Given the description of an element on the screen output the (x, y) to click on. 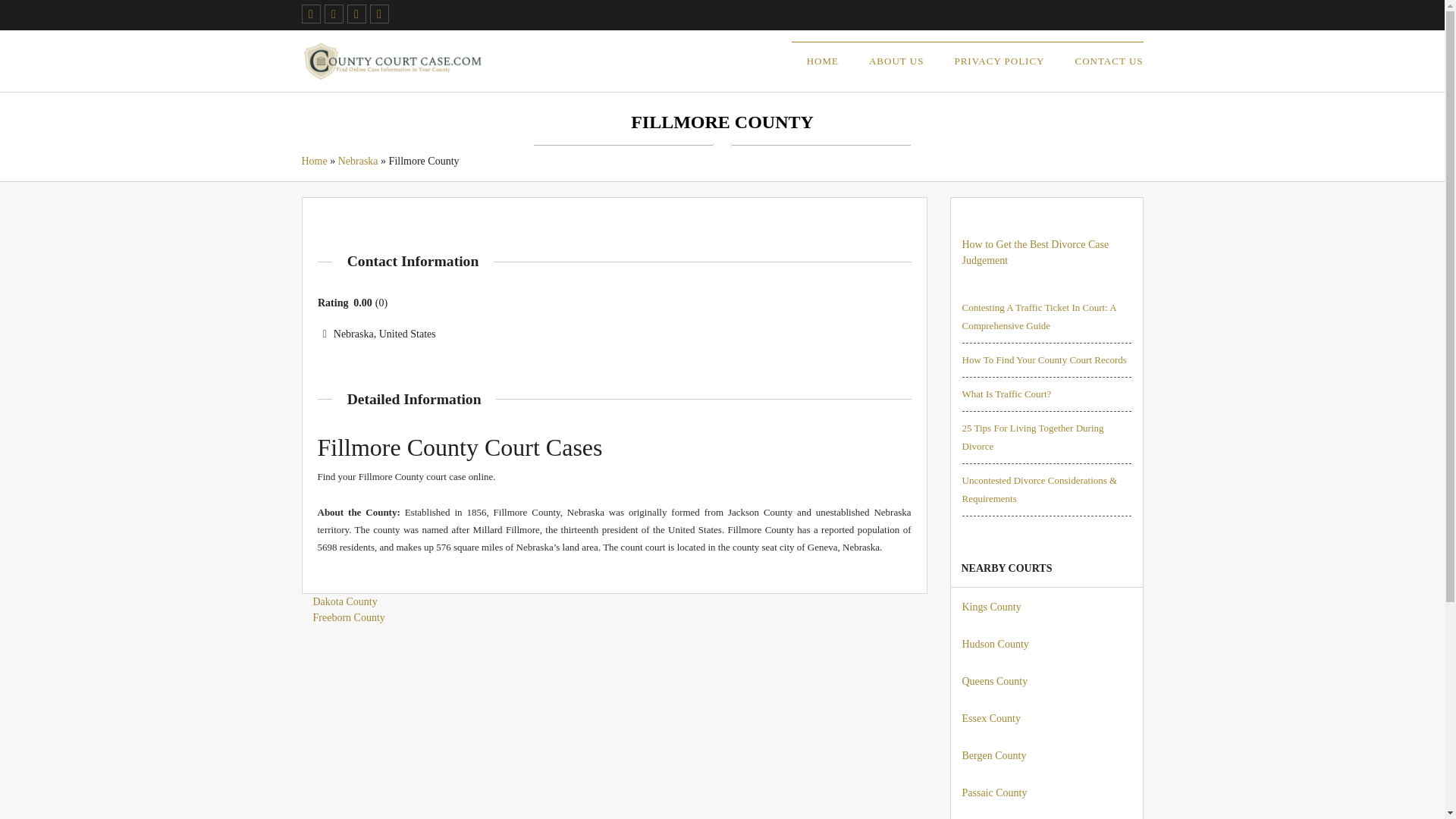
Kings County (990, 606)
Hudson County (993, 644)
CONTACT US (1108, 61)
Hudson County (993, 644)
Passaic County (993, 792)
Nebraska (357, 161)
ABOUT US (896, 61)
Queens County (993, 681)
Essex County (990, 717)
Bergen County (993, 755)
